Given the description of an element on the screen output the (x, y) to click on. 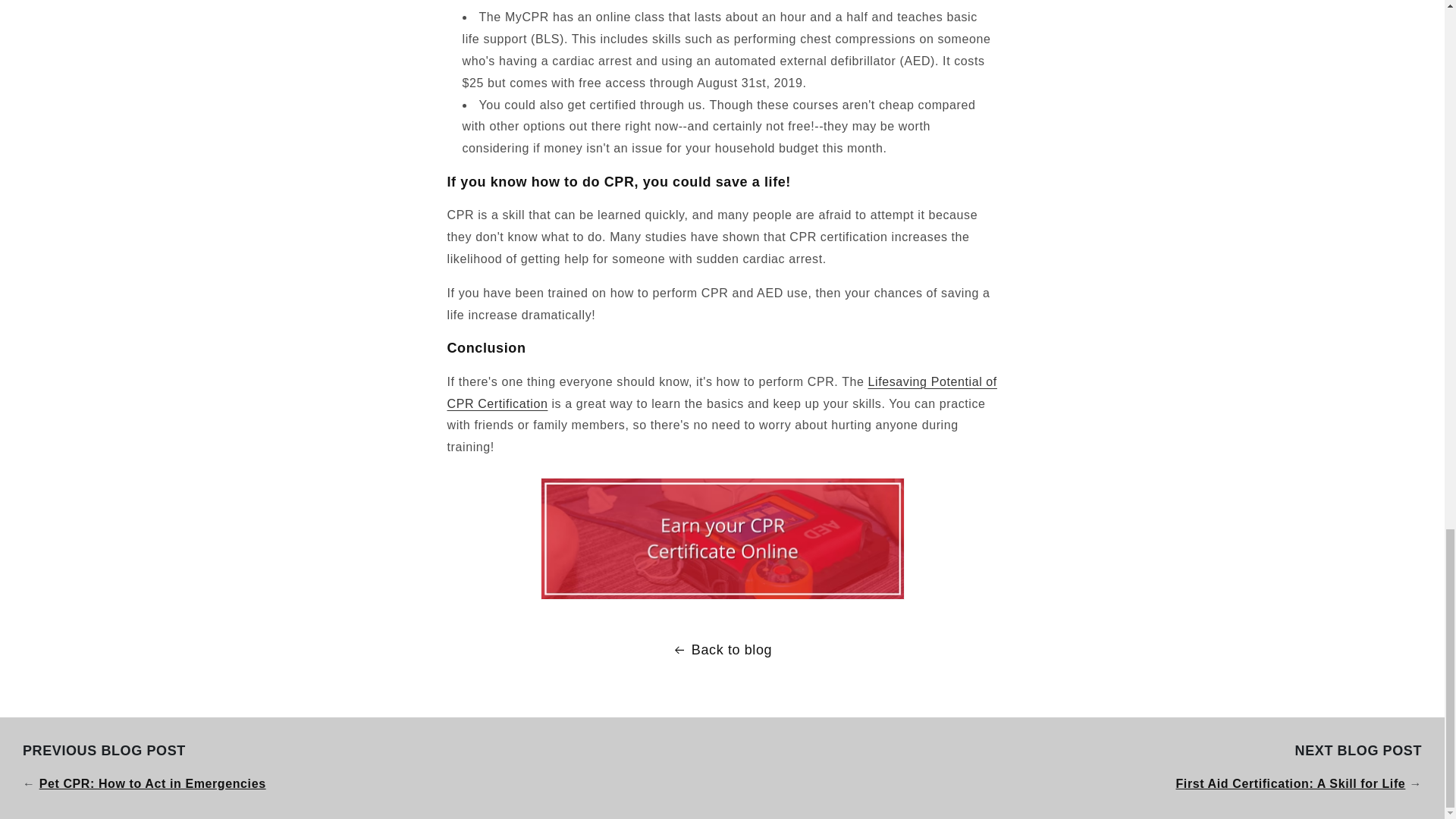
Pet CPR: How to Act in Emergencies (152, 783)
Lifesaving Potential of CPR Certification (721, 392)
First Aid Certification: A Skill for Life (1289, 783)
